Given the description of an element on the screen output the (x, y) to click on. 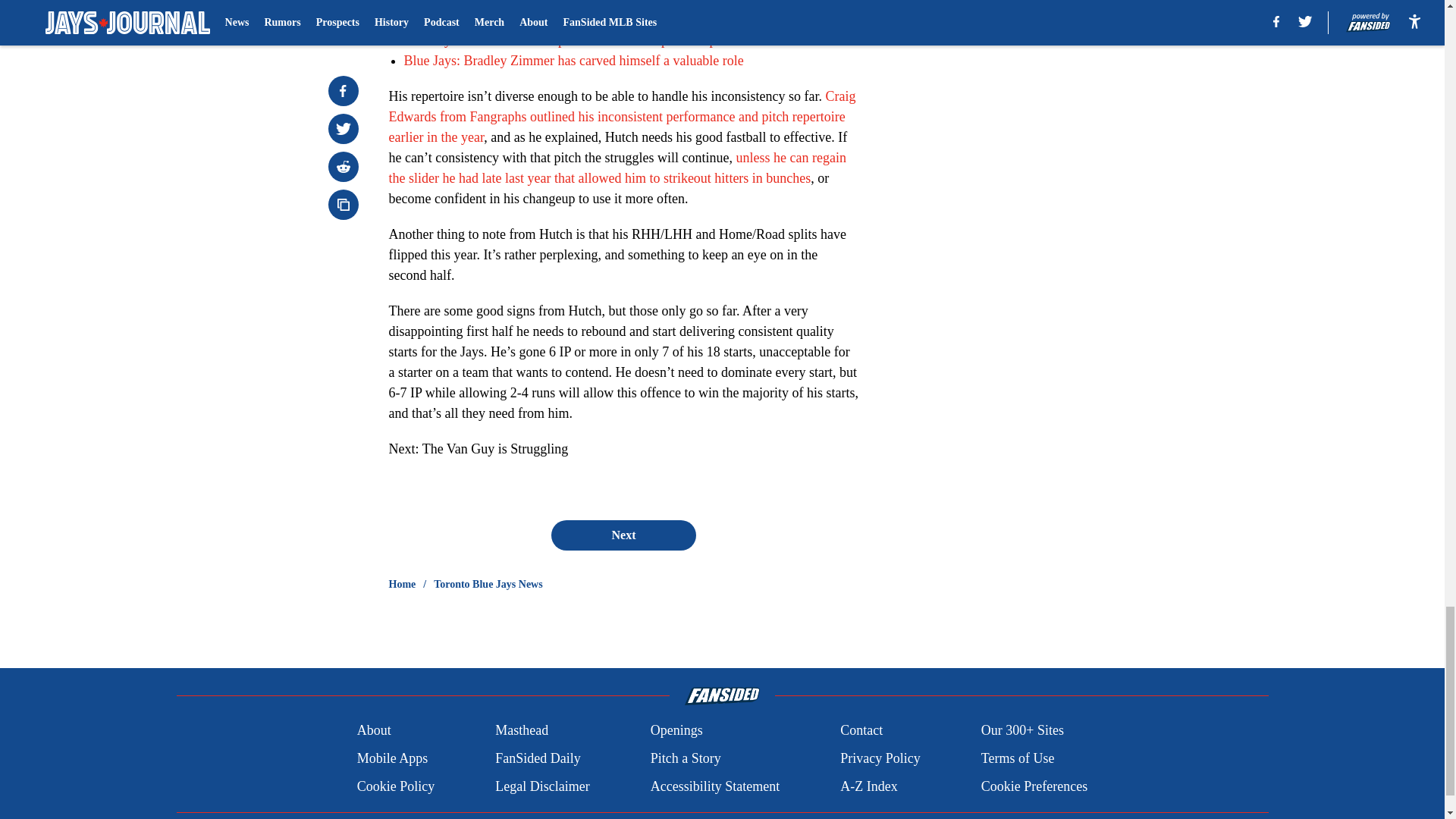
Blue Jays: Bradley Zimmer has carved himself a valuable role (572, 59)
Toronto Blue Jays News (488, 584)
Next (622, 534)
Home (401, 584)
Masthead (521, 729)
About (373, 729)
